Given the description of an element on the screen output the (x, y) to click on. 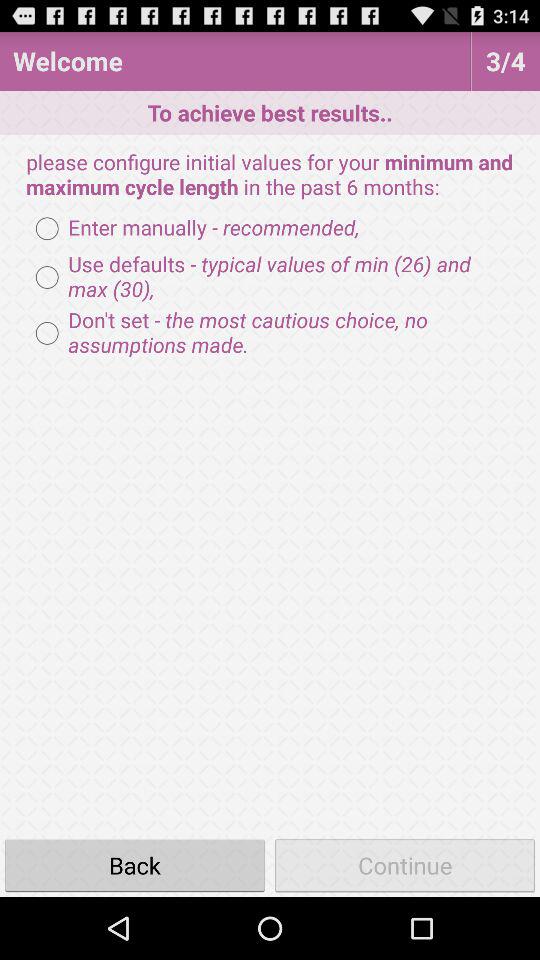
turn off the button above the back (269, 333)
